Given the description of an element on the screen output the (x, y) to click on. 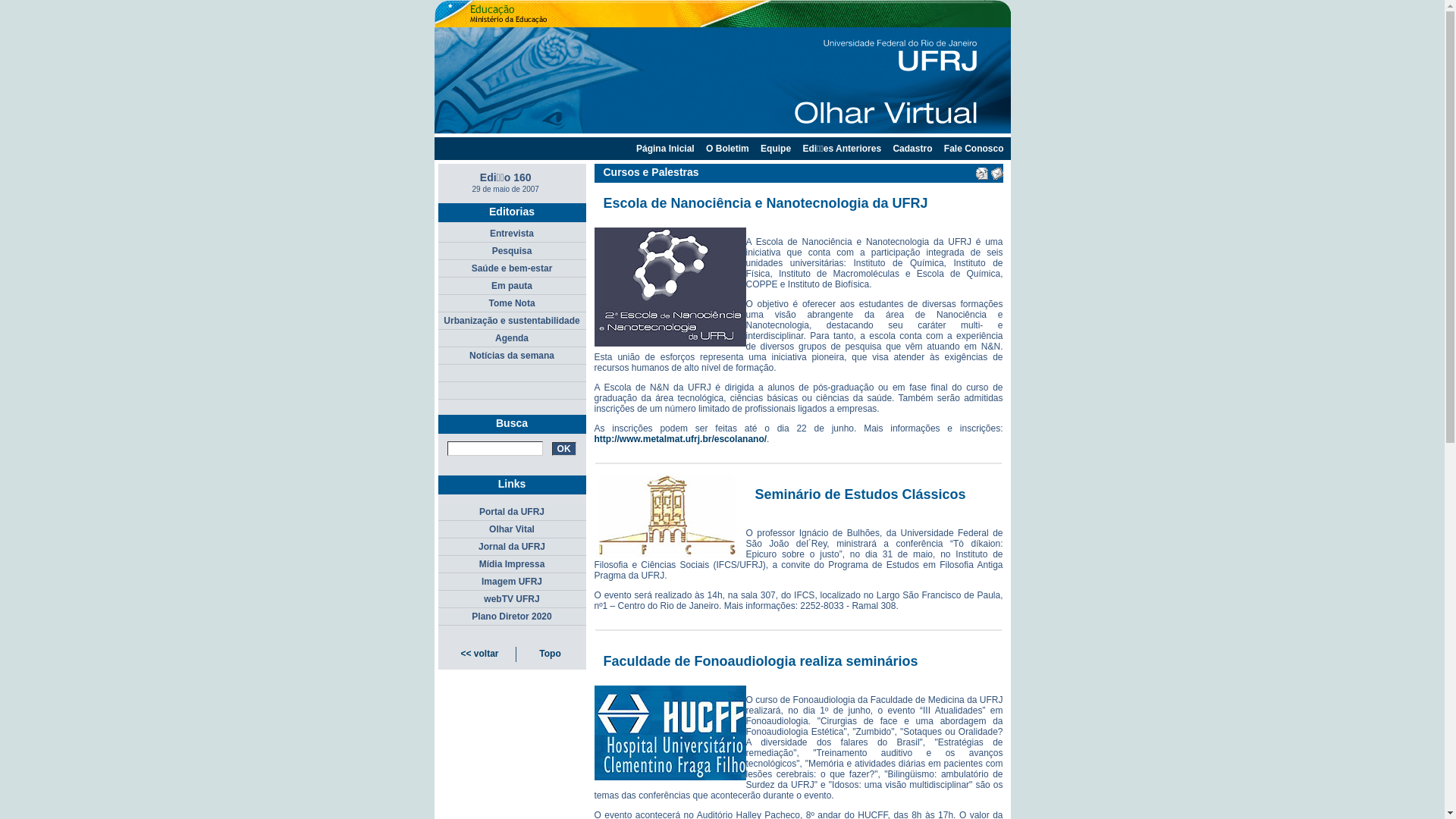
Pesquisa Element type: text (512, 252)
Equipe Element type: text (775, 148)
Fale Conosco Element type: text (974, 148)
http://www.metalmat.ufrj.br/escolanano/ Element type: text (680, 438)
OK Element type: text (564, 448)
Portal da UFRJ Element type: text (512, 512)
webTV UFRJ Element type: text (512, 600)
Topo Element type: text (549, 653)
Entrevista Element type: text (512, 234)
O Boletim Element type: text (727, 148)
Cadastro Element type: text (911, 148)
Agenda Element type: text (512, 339)
Jornal da UFRJ Element type: text (512, 547)
Imagem UFRJ Element type: text (512, 582)
Em pauta Element type: text (512, 286)
Plano Diretor 2020 Element type: text (512, 617)
<< voltar Element type: text (479, 653)
Olhar Vital Element type: text (512, 530)
Tome Nota Element type: text (512, 304)
